Given the description of an element on the screen output the (x, y) to click on. 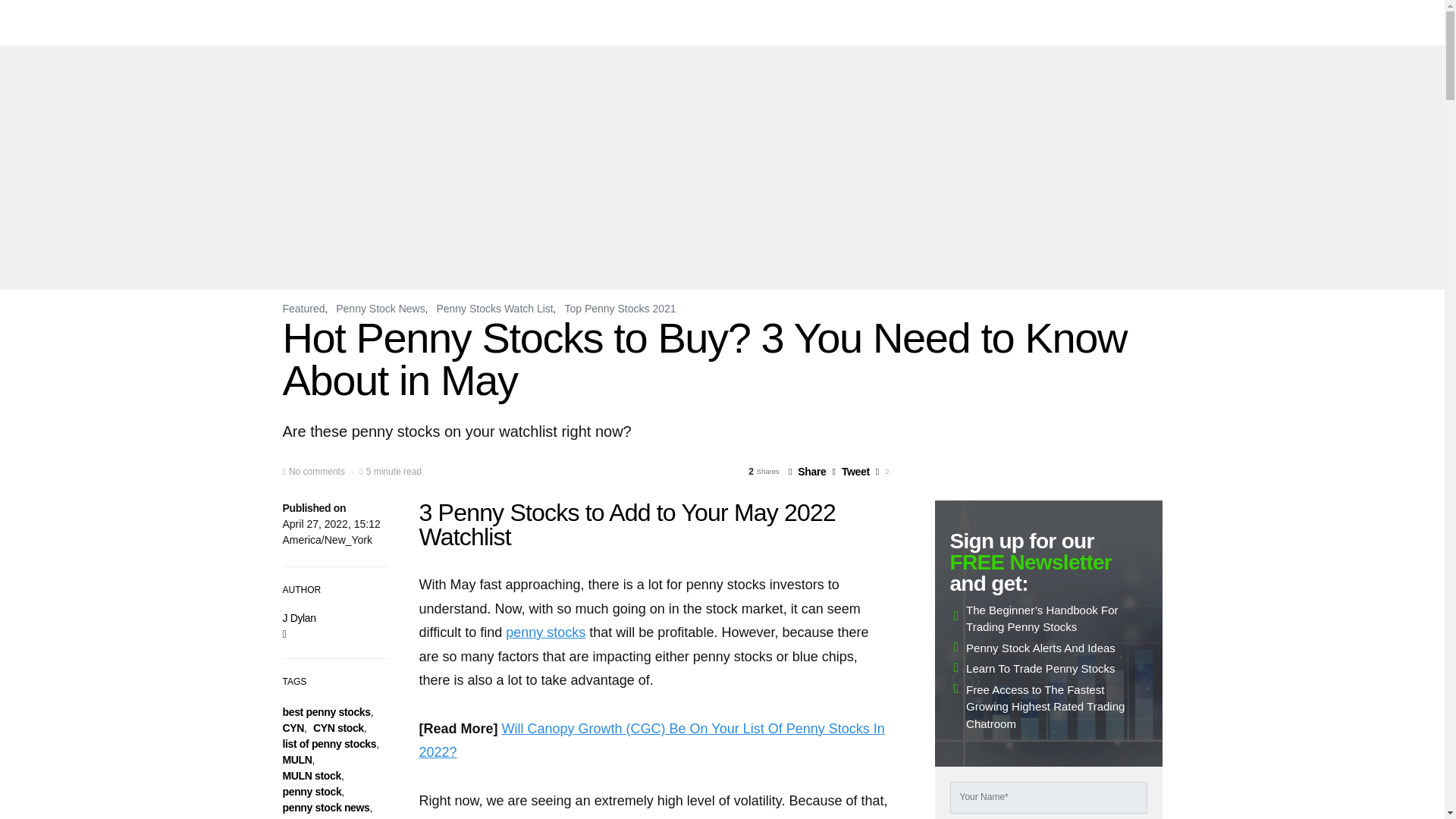
Penny Stocks for Beginners (874, 22)
Penny Stock News (749, 22)
Penny Stock Sectors (1001, 22)
List of Penny Stocks (637, 22)
